Given the description of an element on the screen output the (x, y) to click on. 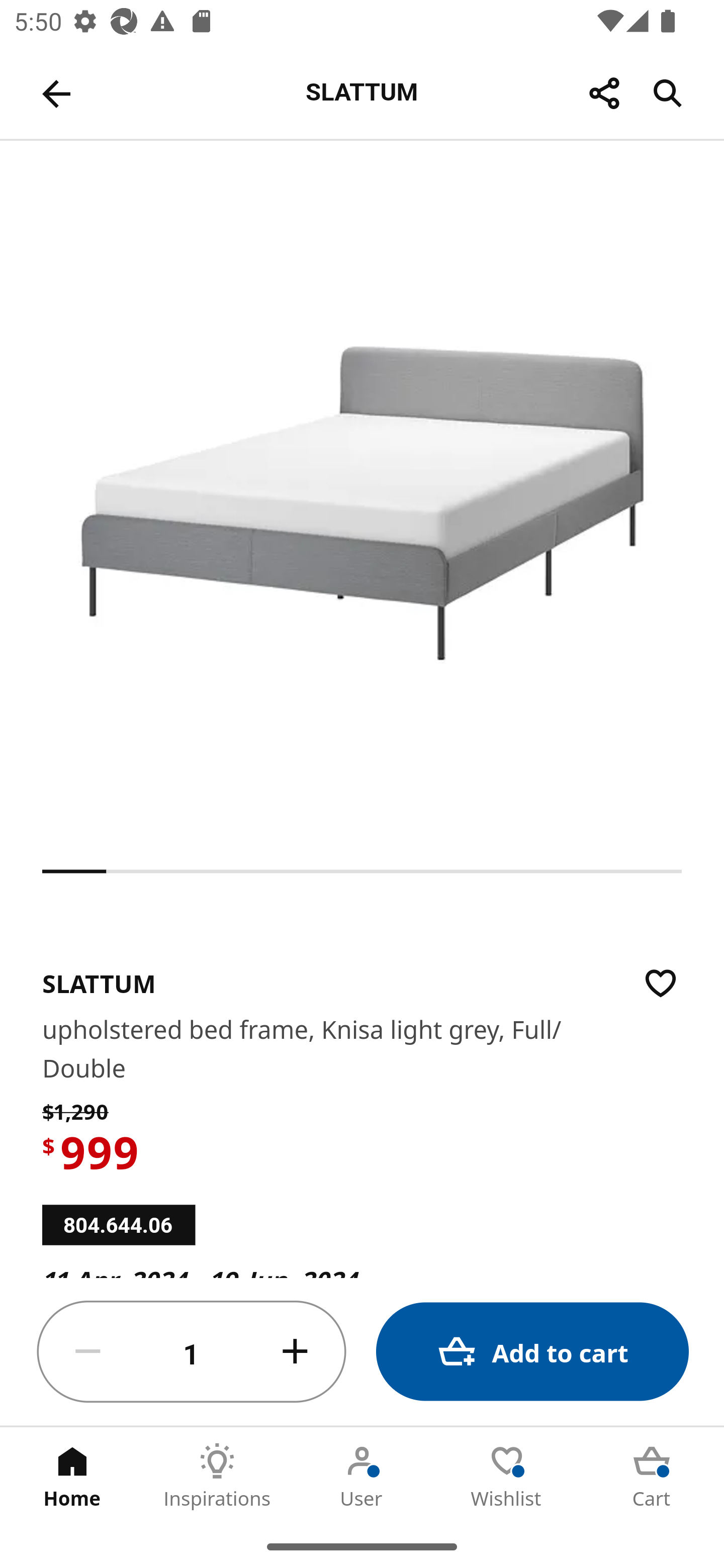
Add to cart (531, 1352)
1 (191, 1352)
Home
Tab 1 of 5 (72, 1476)
Inspirations
Tab 2 of 5 (216, 1476)
User
Tab 3 of 5 (361, 1476)
Wishlist
Tab 4 of 5 (506, 1476)
Cart
Tab 5 of 5 (651, 1476)
